Given the description of an element on the screen output the (x, y) to click on. 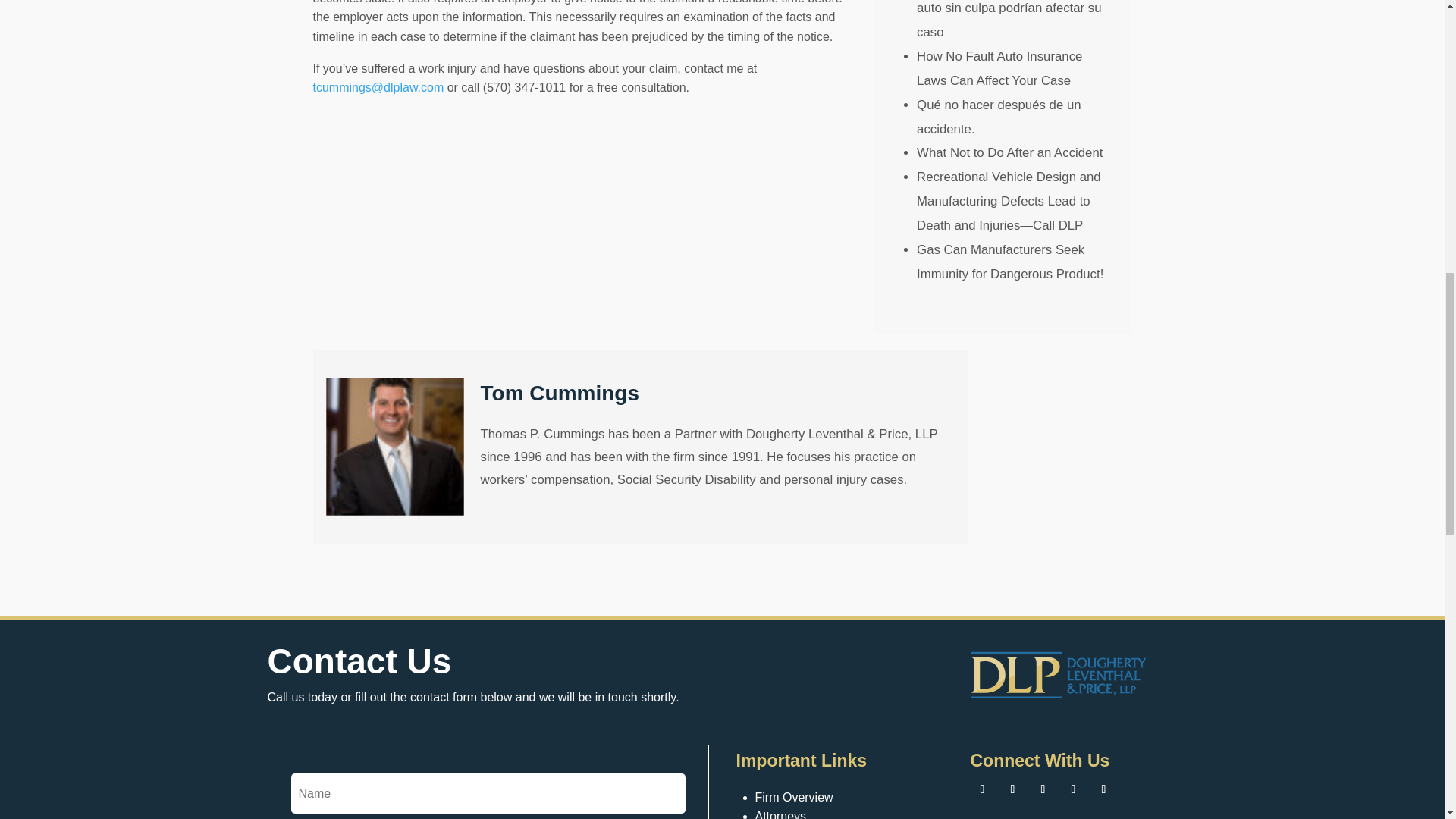
Follow on X (1013, 789)
Attorneys (780, 814)
Firm Overview (793, 801)
Follow on Facebook (982, 789)
